Given the description of an element on the screen output the (x, y) to click on. 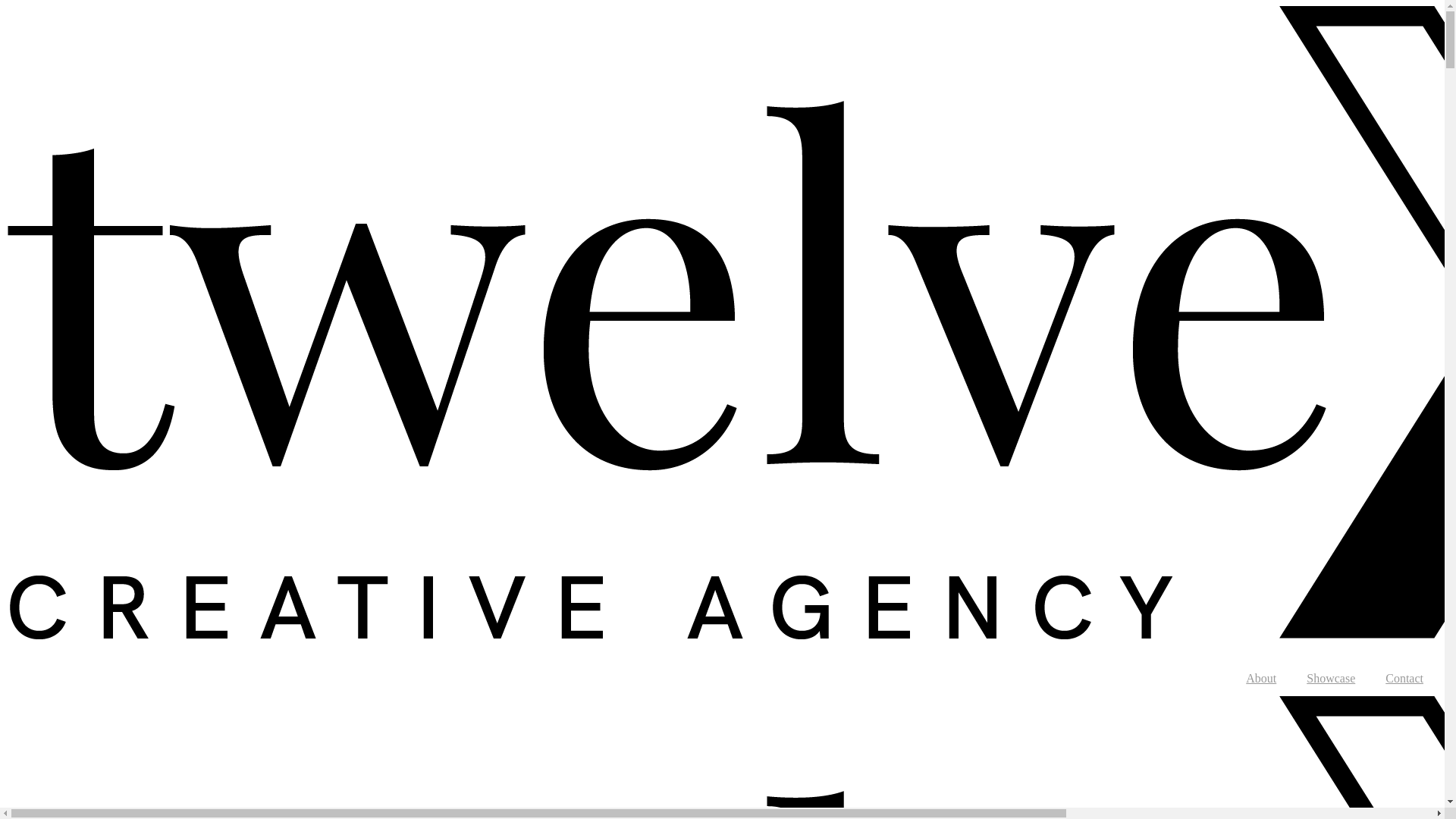
Contact Element type: text (1404, 678)
Showcase Element type: text (1330, 678)
About Element type: text (1260, 678)
